Given the description of an element on the screen output the (x, y) to click on. 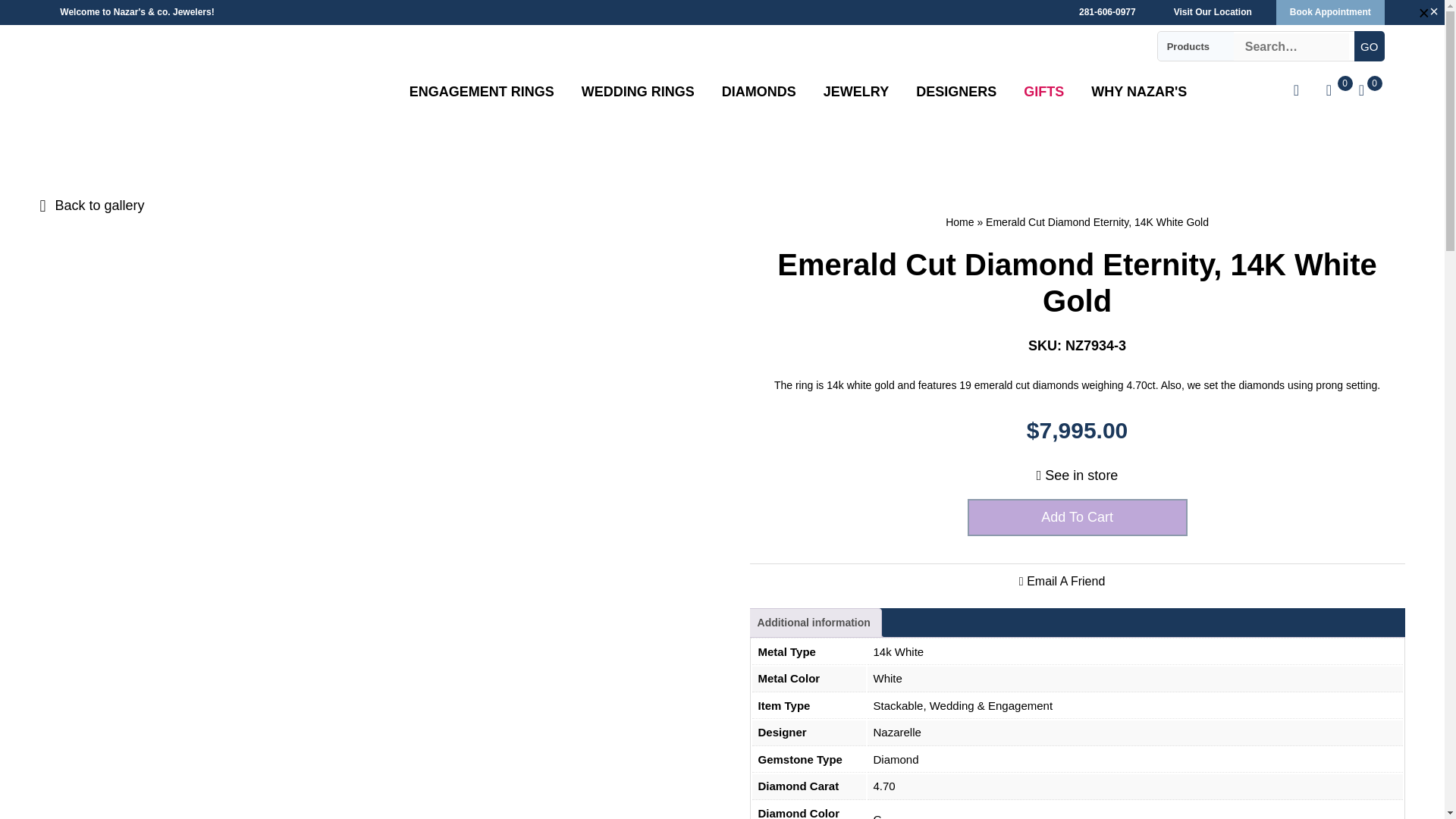
ENGAGEMENT RINGS (481, 91)
GO (1369, 46)
281-606-0977 (1107, 12)
Book Appointment (1330, 12)
Visit Our Location (1212, 12)
Search for: (1291, 46)
